Given the description of an element on the screen output the (x, y) to click on. 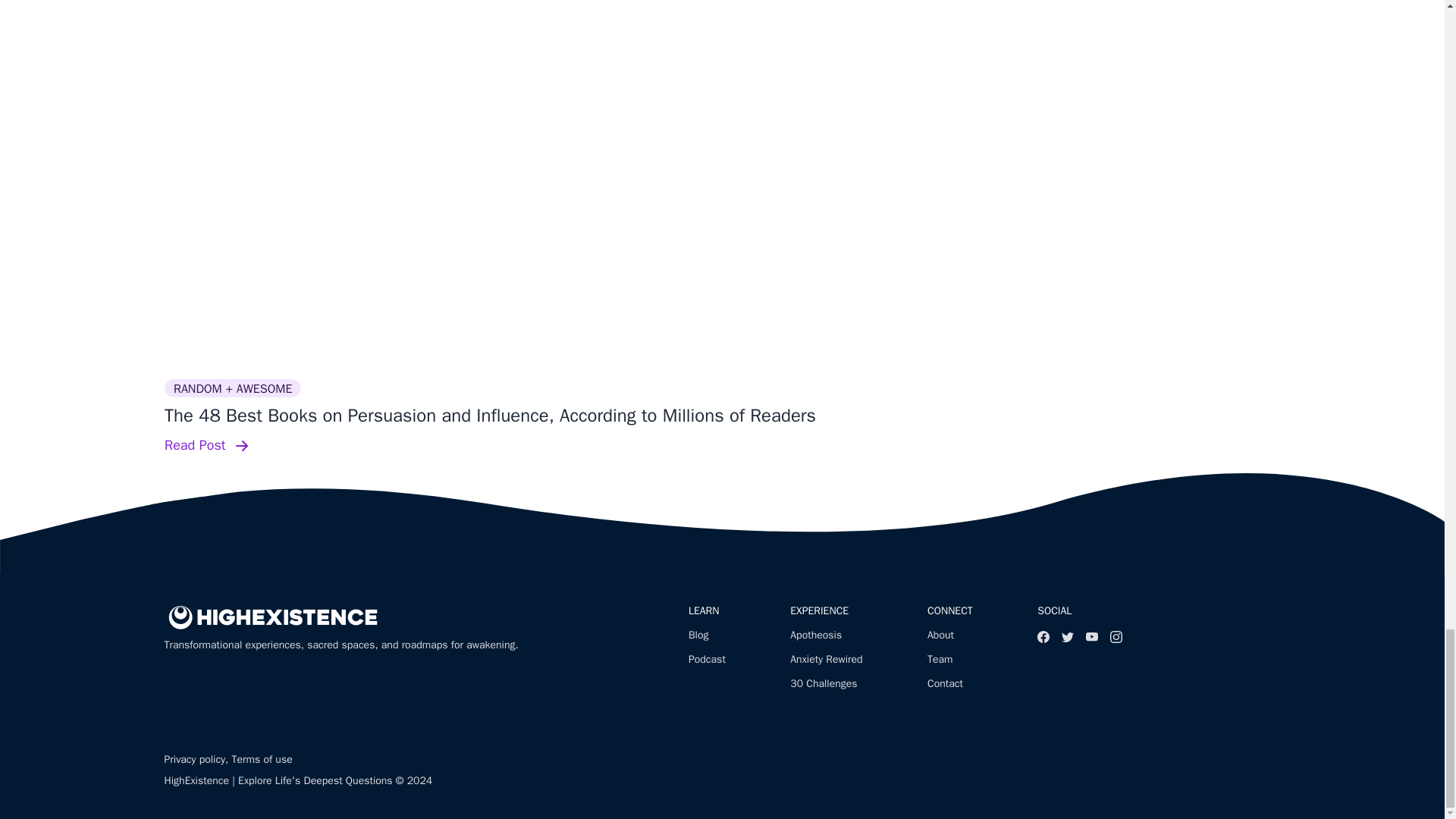
Instagram (1115, 636)
Facebook (1042, 636)
Youtube (1091, 636)
Terms of use (261, 758)
Read Post (721, 445)
Twitter (1067, 636)
Privacy policy (194, 758)
